Given the description of an element on the screen output the (x, y) to click on. 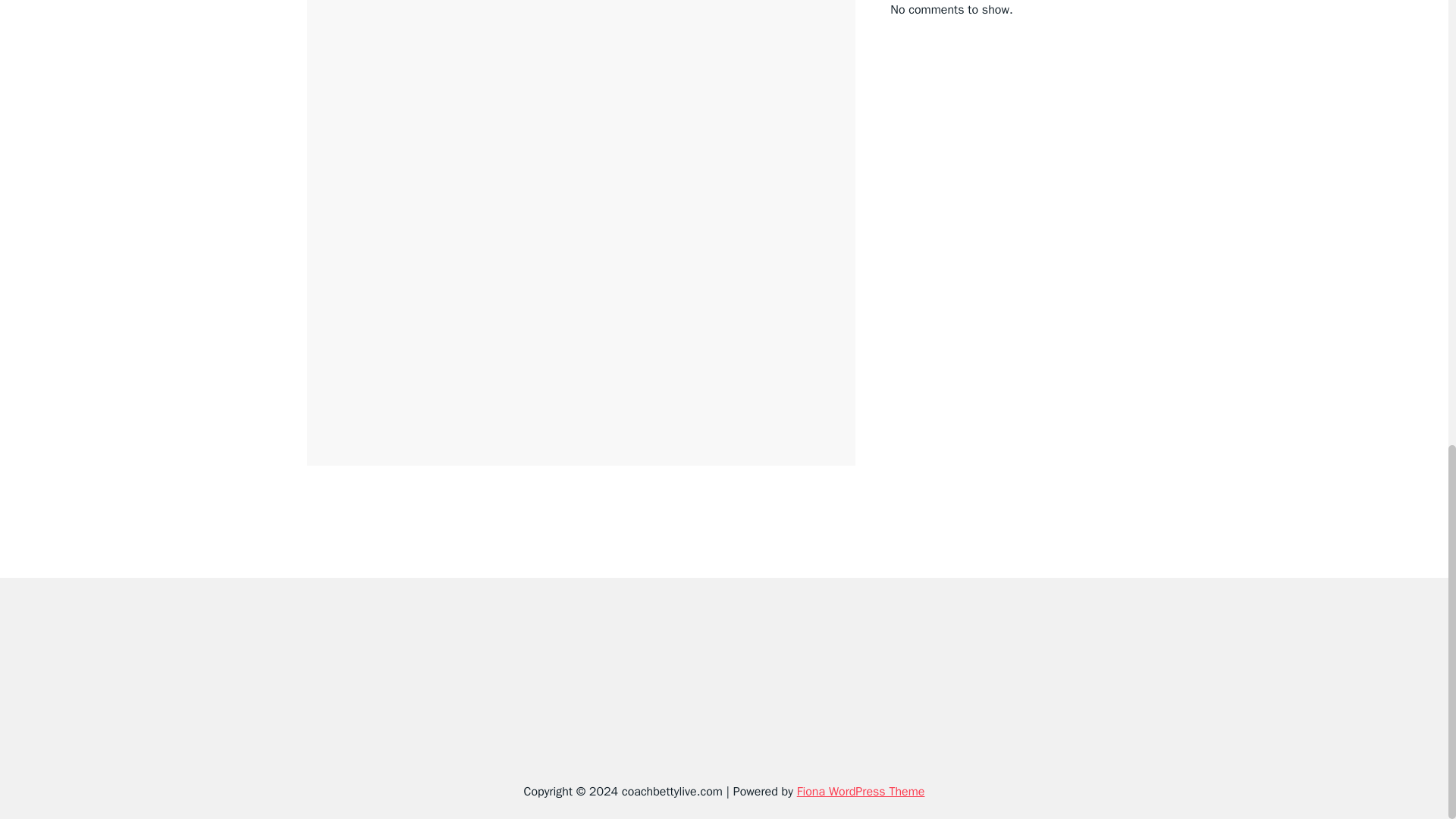
Fiona WordPress Theme (860, 791)
